Given the description of an element on the screen output the (x, y) to click on. 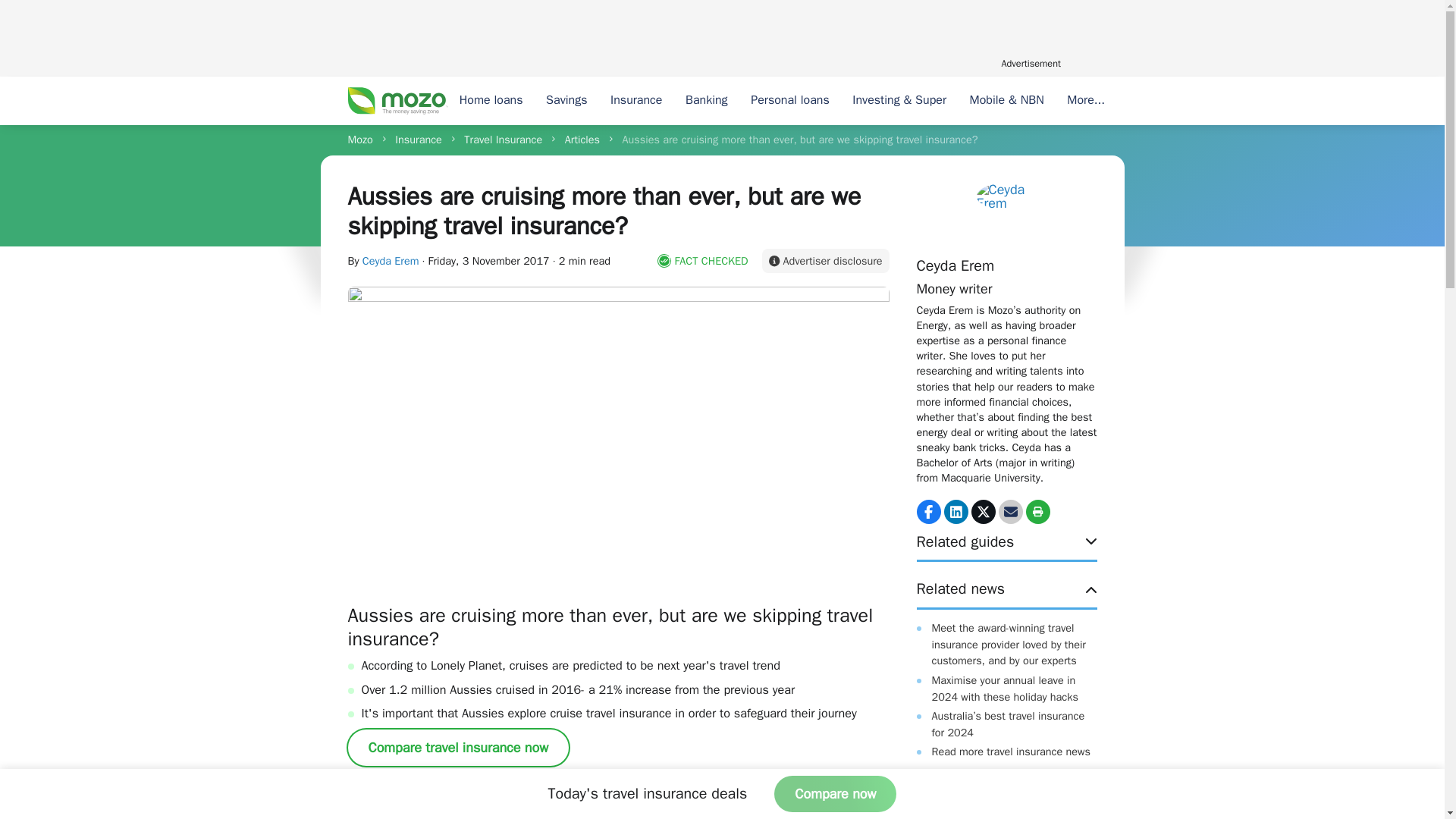
Savings (565, 101)
3rd party ad content (721, 37)
Insurance (635, 101)
Home loans (490, 101)
